Given the description of an element on the screen output the (x, y) to click on. 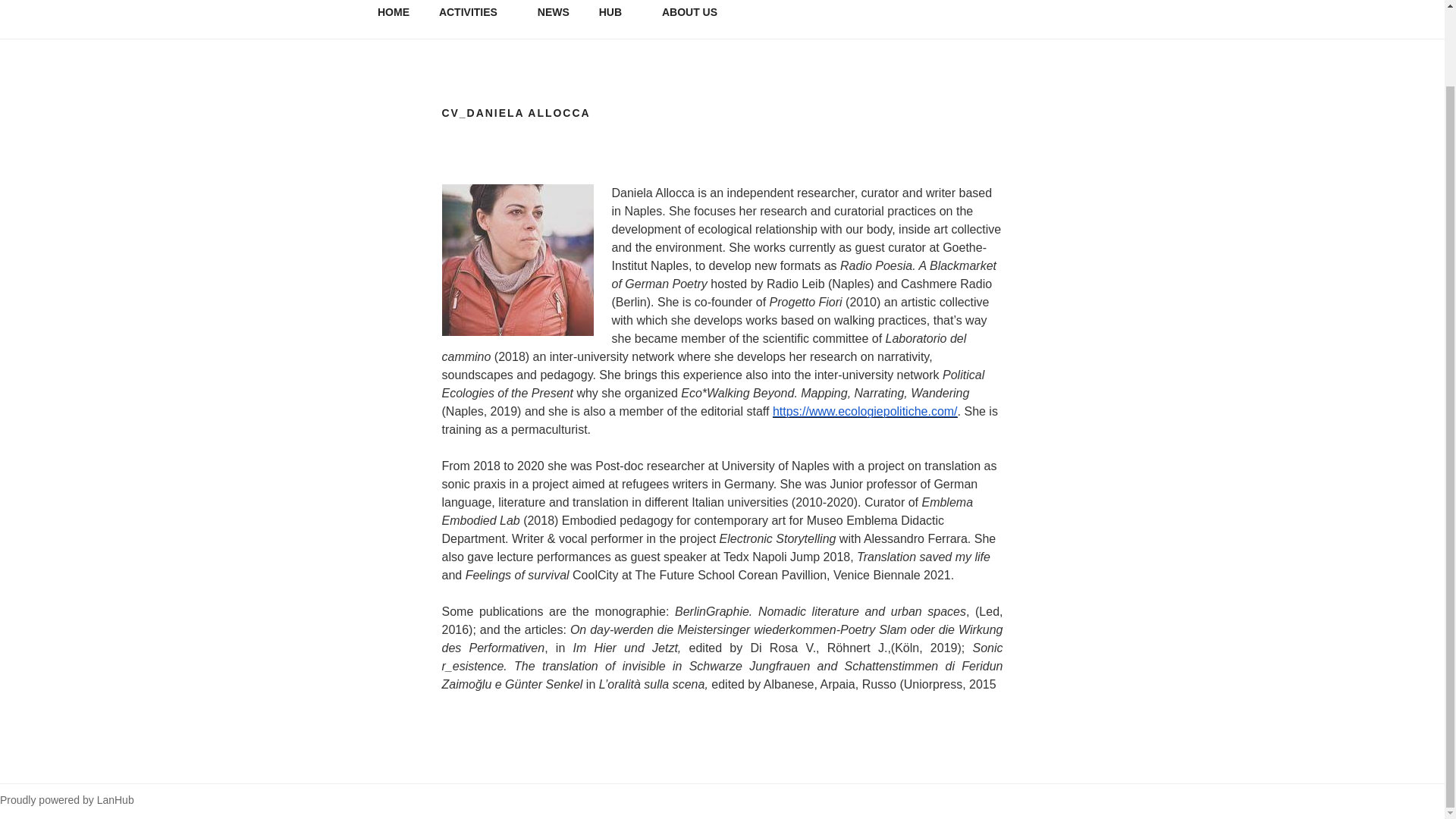
HOME (393, 15)
NEWS (553, 15)
HUB (615, 15)
ACTIVITIES (473, 15)
